Given the description of an element on the screen output the (x, y) to click on. 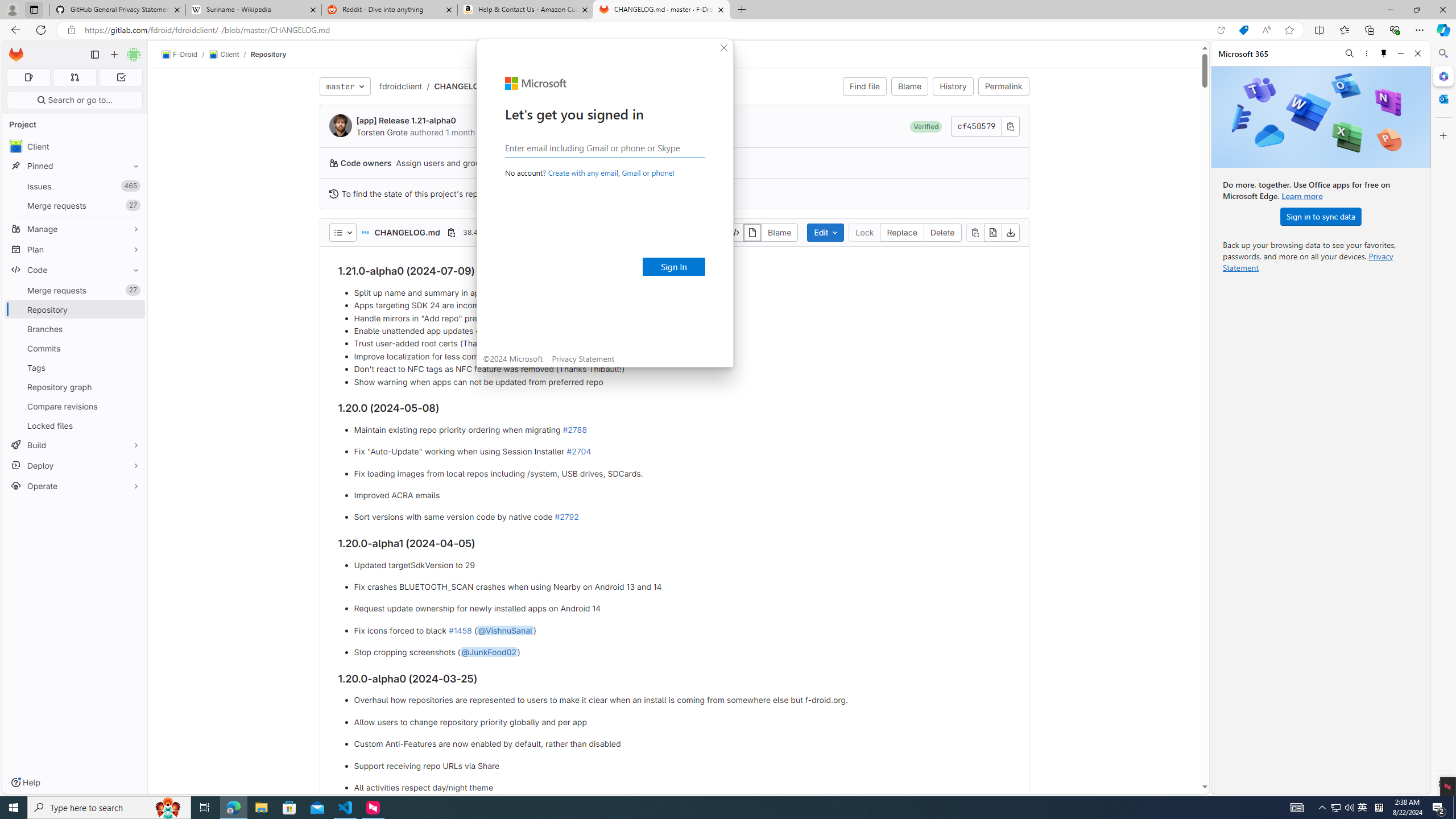
Learn more about Microsoft Office. (1302, 195)
Code (74, 269)
@VishnuSanal (504, 629)
F-Droid/ (185, 54)
Sign In (673, 266)
Deploy (74, 465)
Client (74, 145)
Locked files (74, 425)
Commits (74, 348)
User Promoted Notification Area (1342, 807)
Start (13, 807)
Microsoft 365 (1442, 76)
Help & Contact Us - Amazon Customer Service (525, 9)
Show desktop (1454, 807)
